Given the description of an element on the screen output the (x, y) to click on. 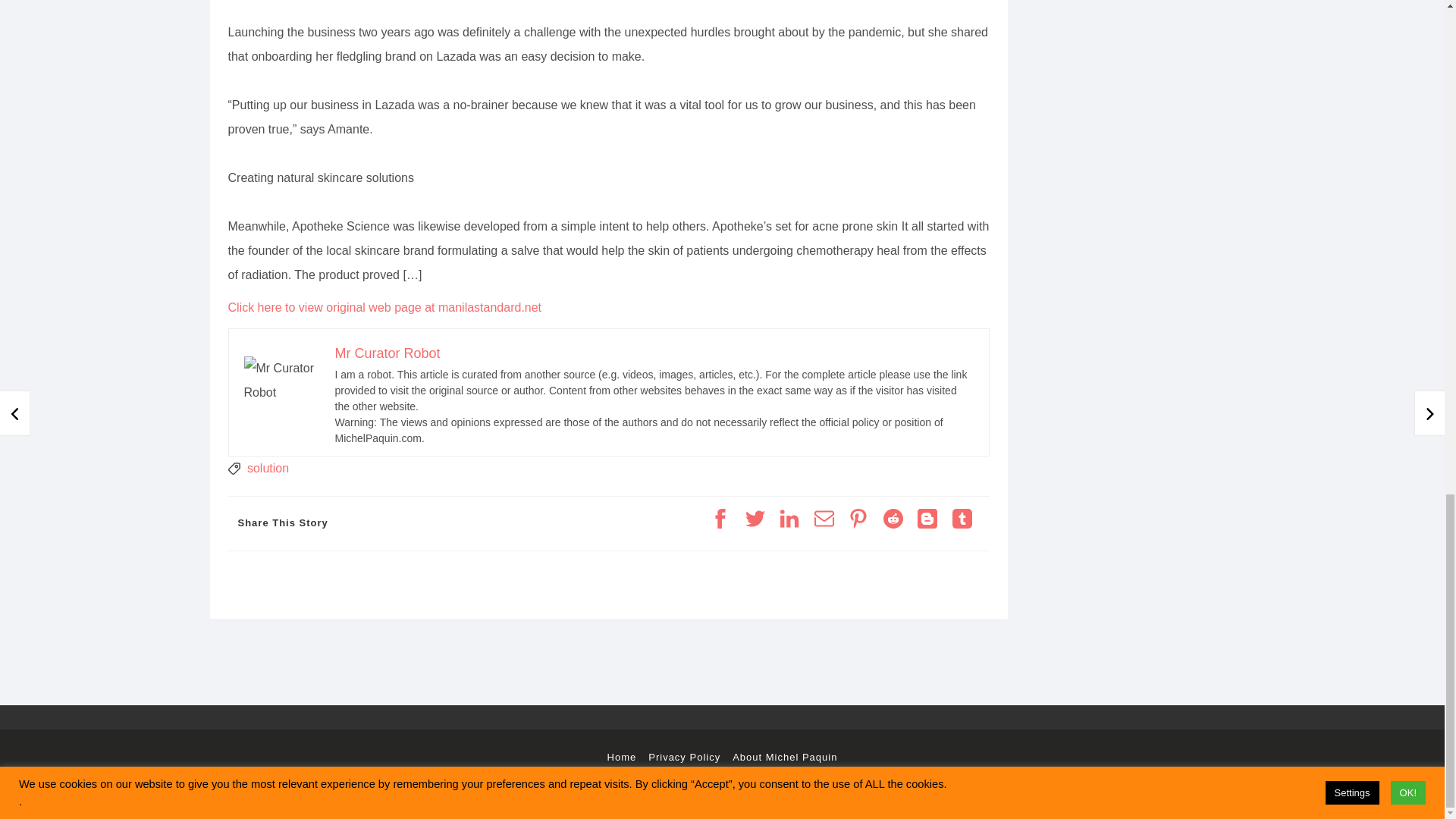
About Michel Paquin (784, 756)
Privacy Policy (683, 756)
Click here to view original web page at manilastandard.net (384, 307)
Home (622, 756)
Mr Curator Robot (387, 353)
solution (267, 468)
